Given the description of an element on the screen output the (x, y) to click on. 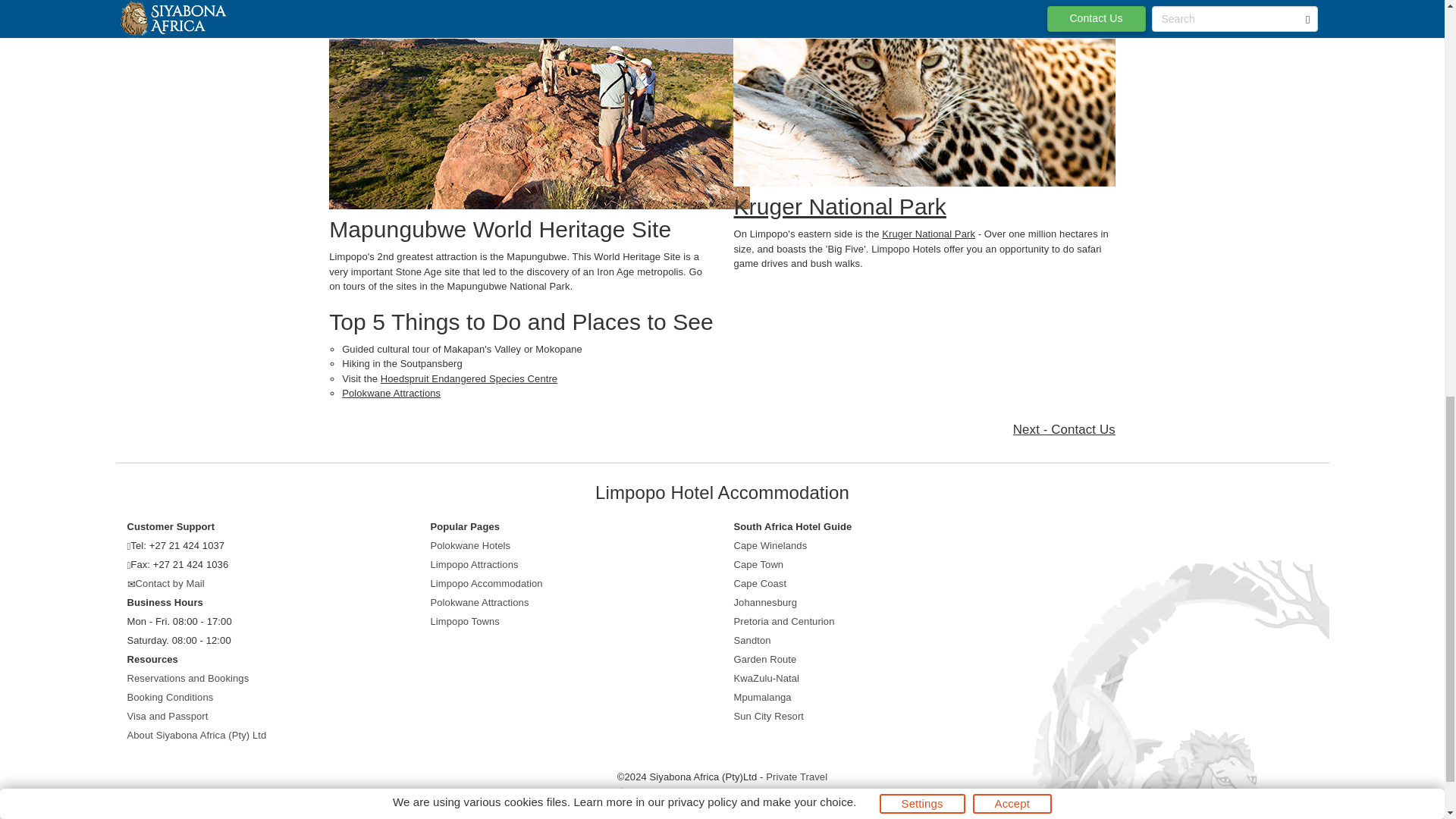
Reservations and Bookings (188, 677)
Polokwane Attractions (391, 392)
Johannesburg (765, 602)
Sandton (752, 640)
Kruger National Park (928, 233)
Booking Conditions (171, 696)
Contact by Mail (170, 583)
Polokwane Hotels (470, 545)
Cape Town (758, 564)
Pretoria and Centurion (783, 621)
